Given the description of an element on the screen output the (x, y) to click on. 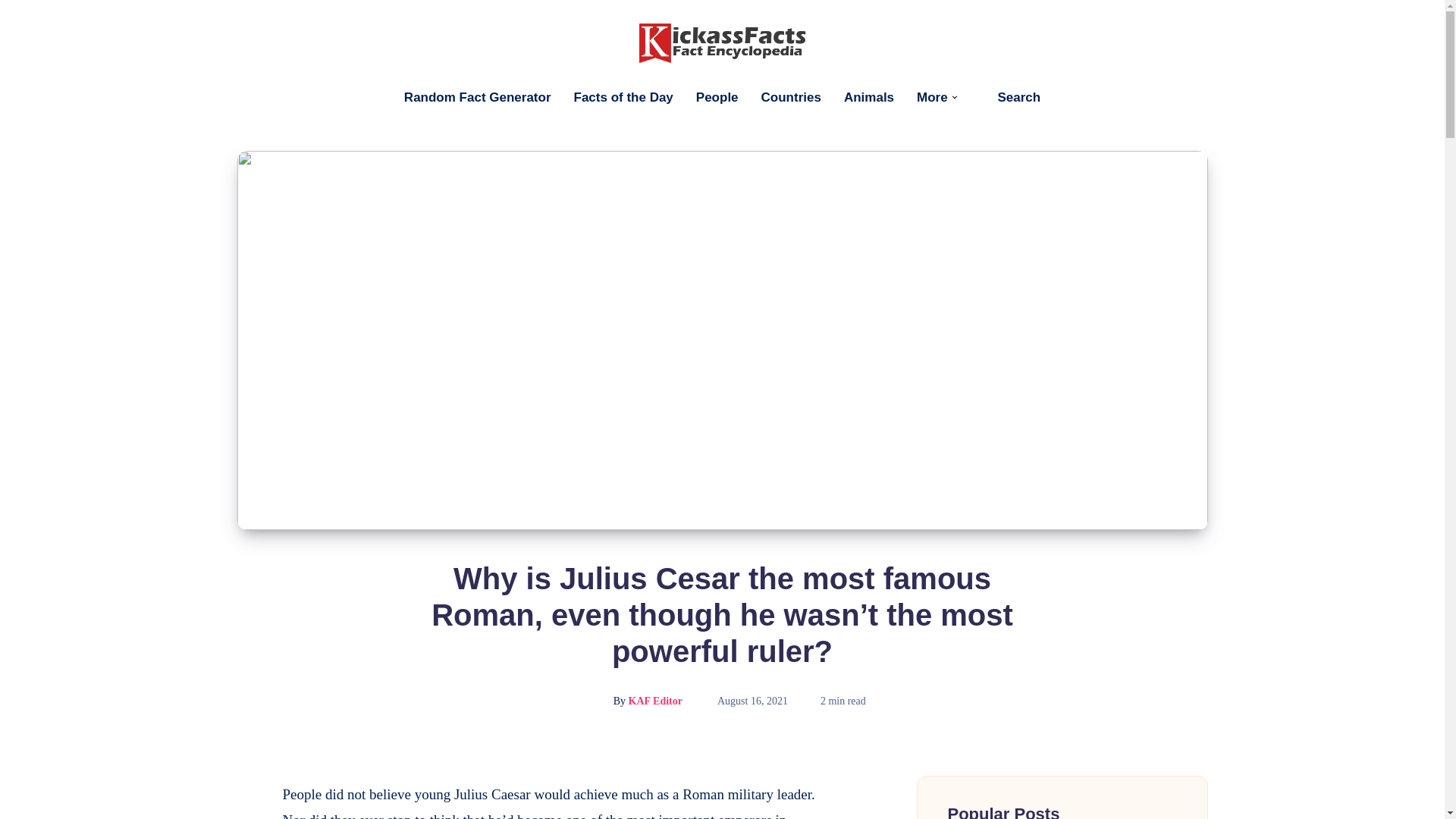
Random Fact Generator (477, 97)
Countries (791, 97)
More (932, 97)
People (716, 97)
Facts of the Day (622, 97)
Animals (868, 97)
